Given the description of an element on the screen output the (x, y) to click on. 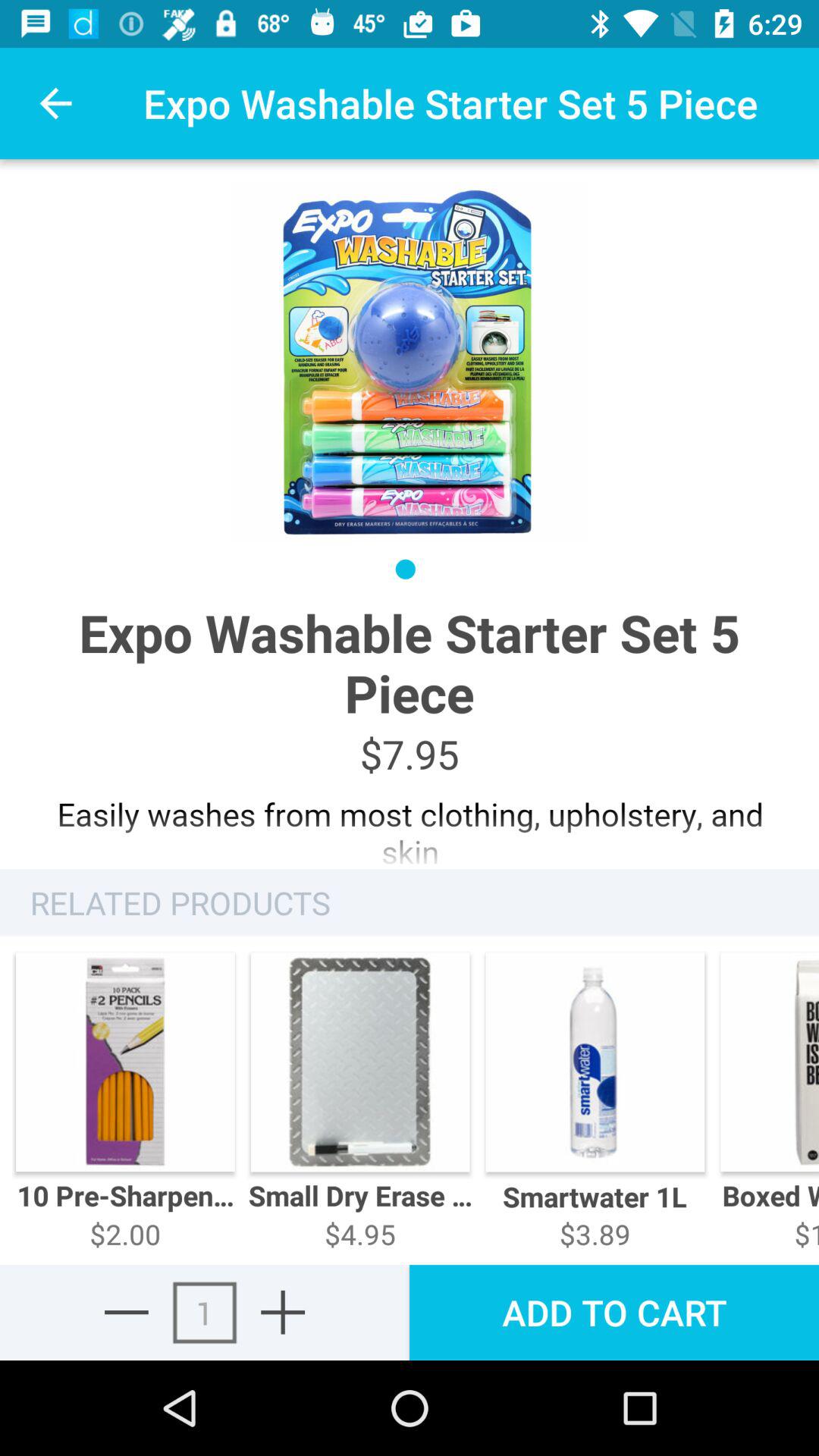
reduce number in cart (126, 1312)
